Given the description of an element on the screen output the (x, y) to click on. 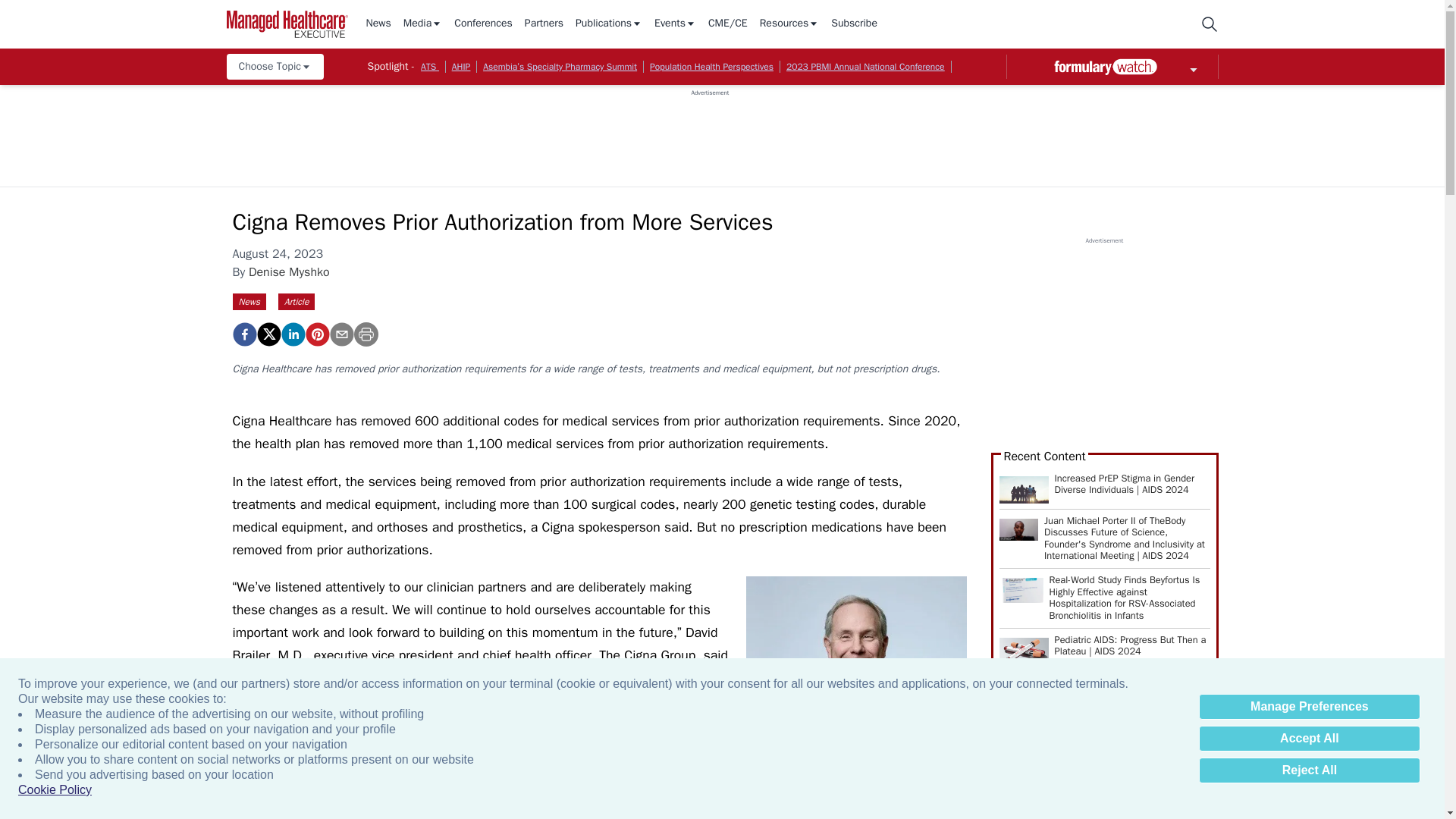
Cookie Policy (54, 789)
Partners (543, 23)
Media (422, 23)
Publications (608, 23)
David Brailer, M.D. (855, 686)
News (377, 23)
Cigna Removes Prior Authorization from More Services (243, 334)
Subscribe (854, 23)
Resources (789, 23)
3rd party ad content (709, 131)
Conferences (483, 23)
Events (674, 23)
Manage Preferences (1309, 706)
Choose Topic (274, 66)
Reject All (1309, 769)
